Given the description of an element on the screen output the (x, y) to click on. 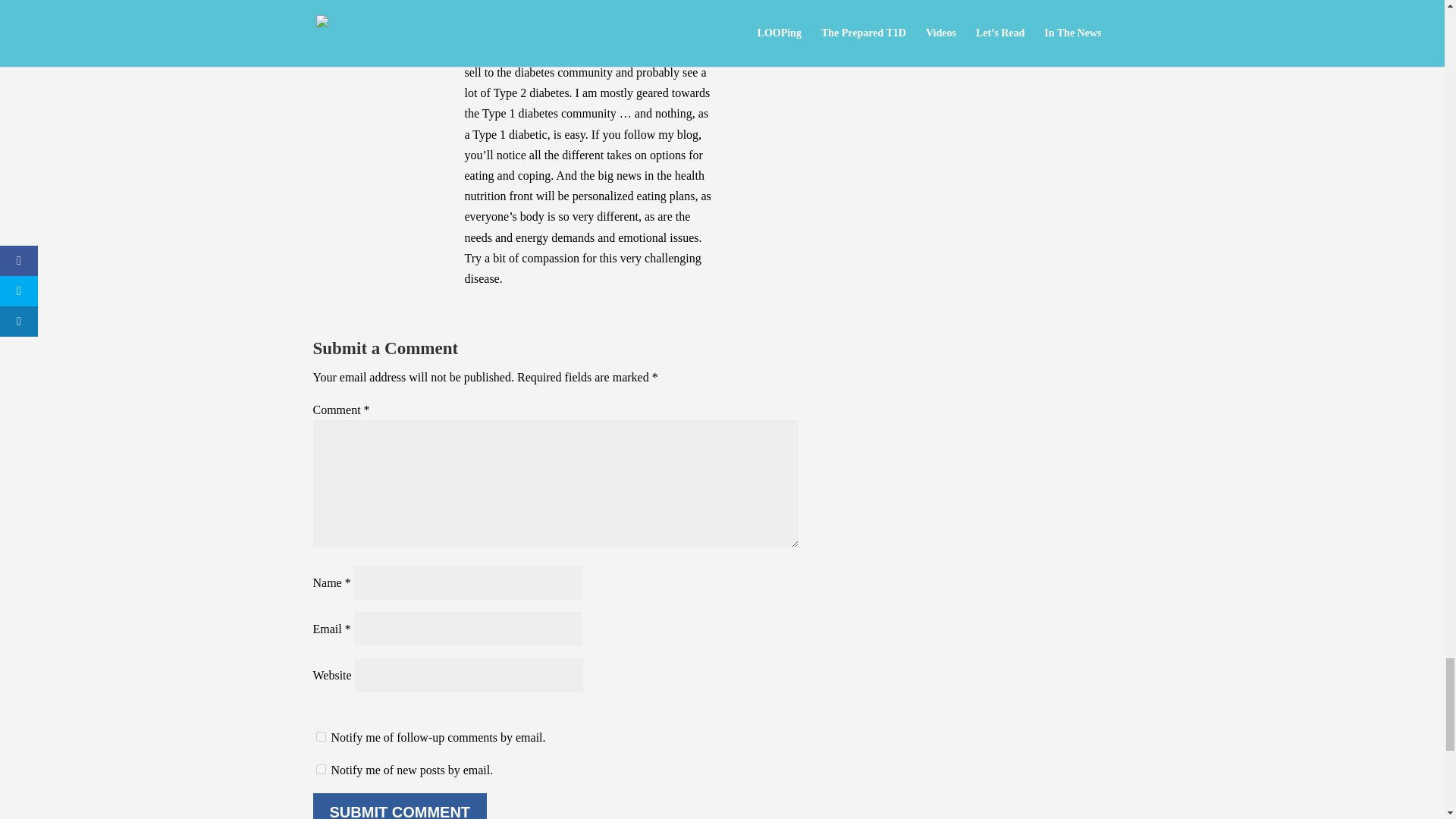
subscribe (319, 737)
Reply (783, 29)
Submit Comment (399, 806)
Submit Comment (399, 806)
subscribe (319, 768)
